Given the description of an element on the screen output the (x, y) to click on. 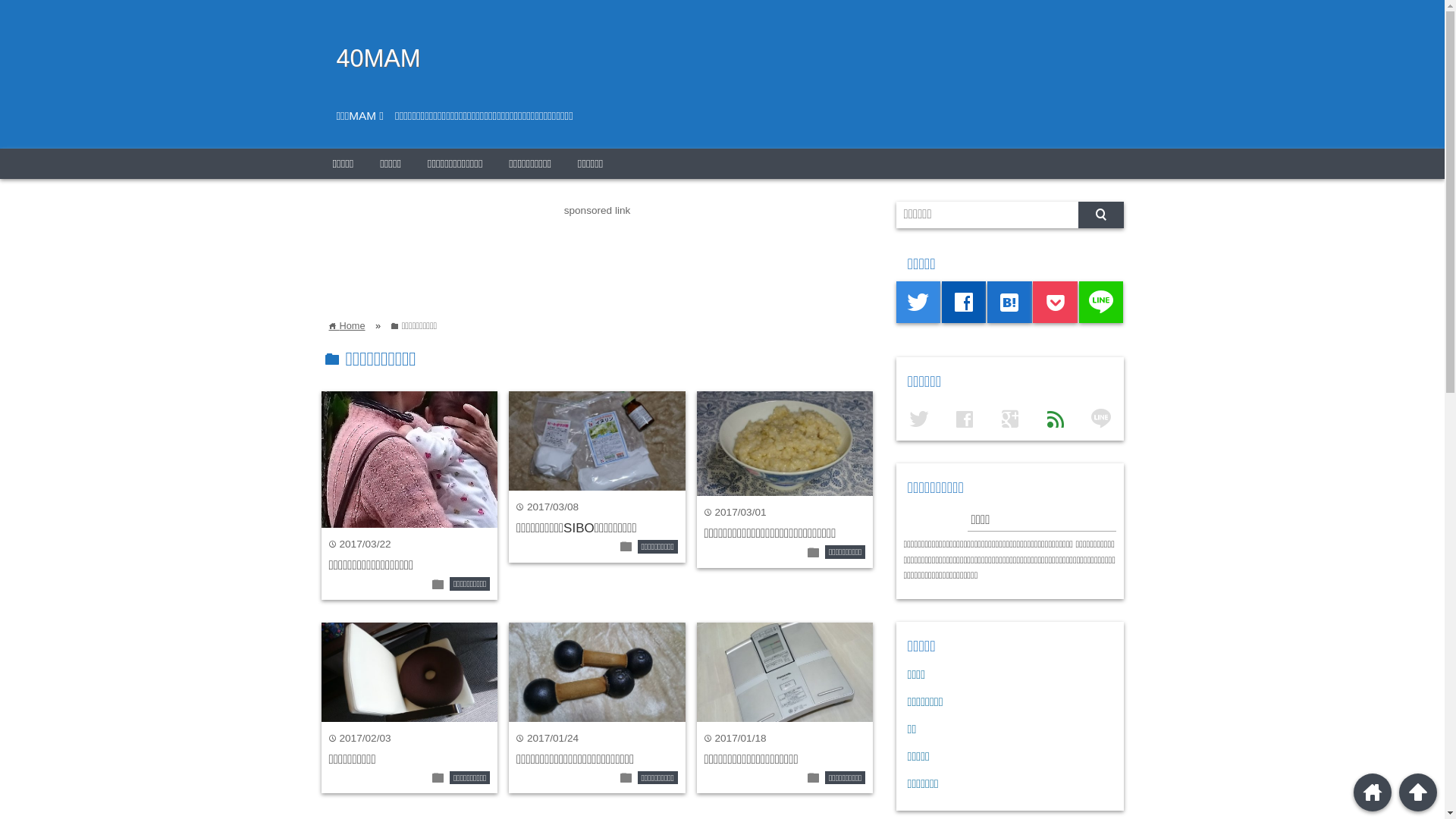
Advertisement Element type: hover (597, 253)
40MAM Element type: text (378, 58)
facebook Element type: text (963, 302)
home Home Element type: text (347, 325)
search Element type: text (1100, 214)
line Element type: text (1101, 302)
twitter Element type: text (918, 302)
hatenabookmark Element type: text (1009, 302)
